Given the description of an element on the screen output the (x, y) to click on. 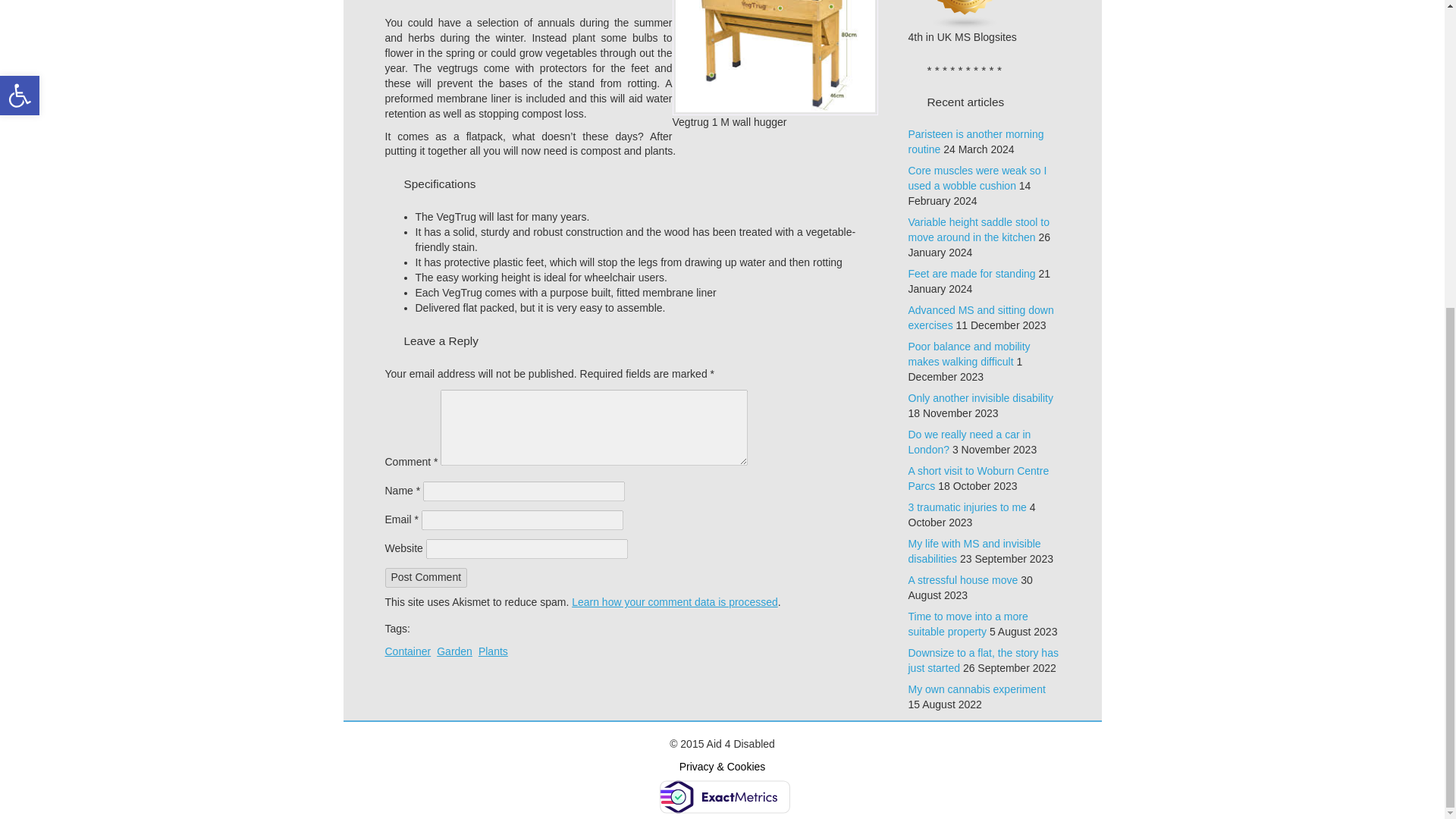
Post Comment (426, 578)
